Given the description of an element on the screen output the (x, y) to click on. 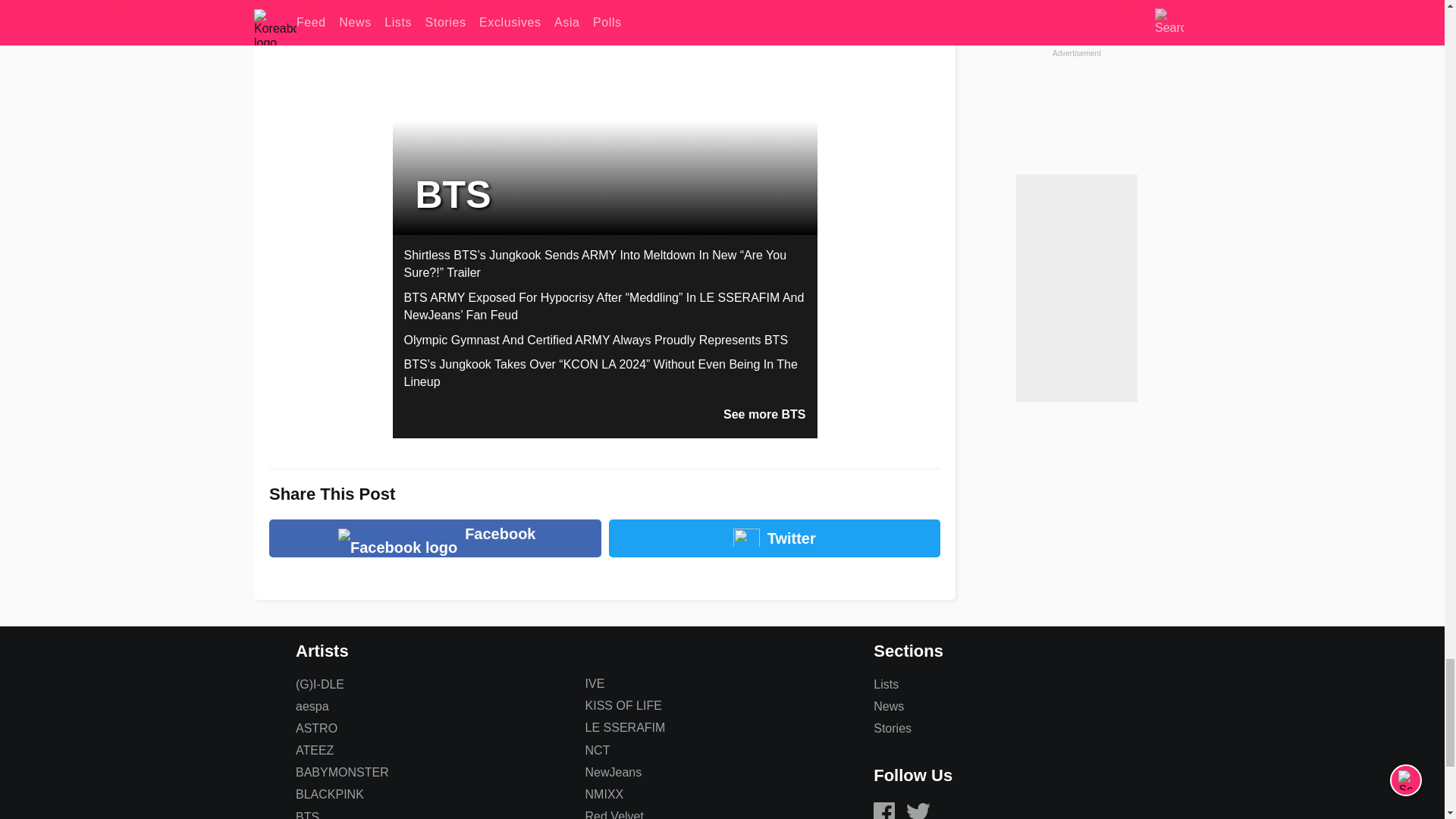
ASTRO (316, 727)
See more BTS (764, 413)
aespa (312, 706)
LE SSERAFIM (625, 727)
BTS (306, 814)
NewJeans (613, 771)
BABYMONSTER (341, 771)
KISS OF LIFE (623, 705)
BLACKPINK (329, 793)
NCT (597, 749)
Red Velvet (614, 814)
NMIXX (604, 793)
IVE (595, 683)
ATEEZ (314, 749)
